Given the description of an element on the screen output the (x, y) to click on. 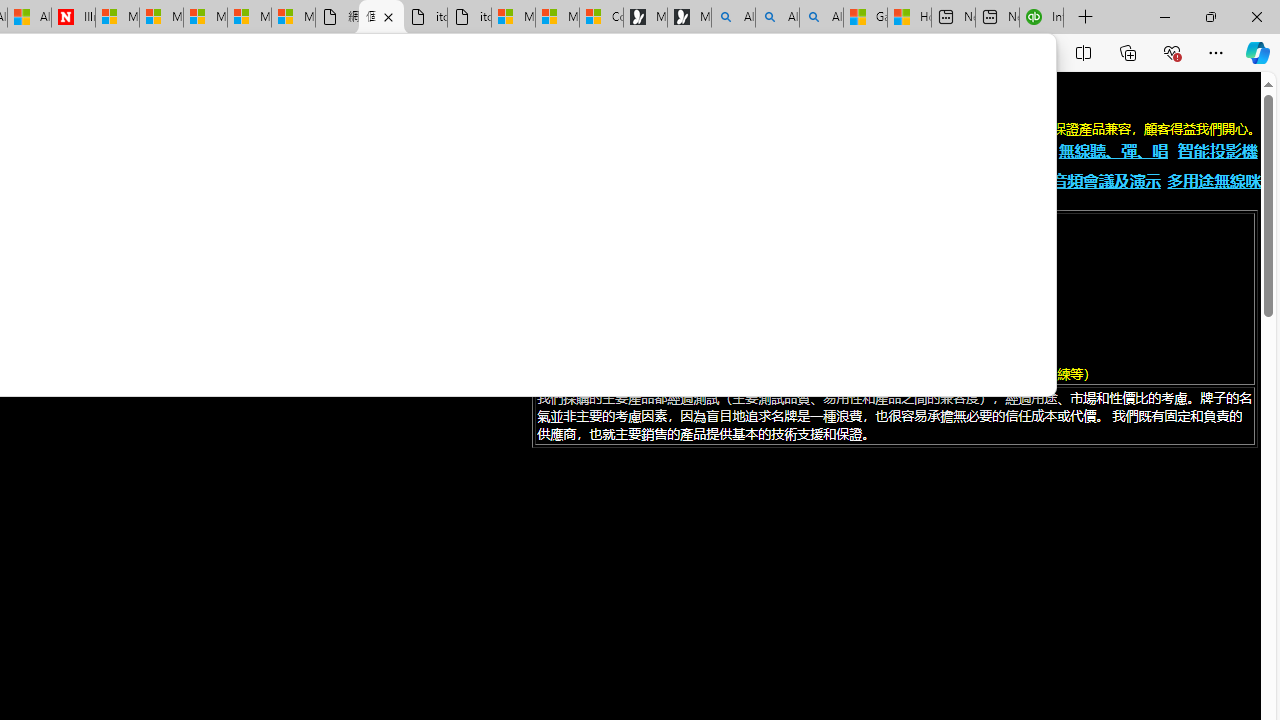
itconcepthk.com/projector_solutions.mp4 (469, 17)
Alabama high school quarterback dies - Search Videos (821, 17)
Alabama high school quarterback dies - Search (733, 17)
